Given the description of an element on the screen output the (x, y) to click on. 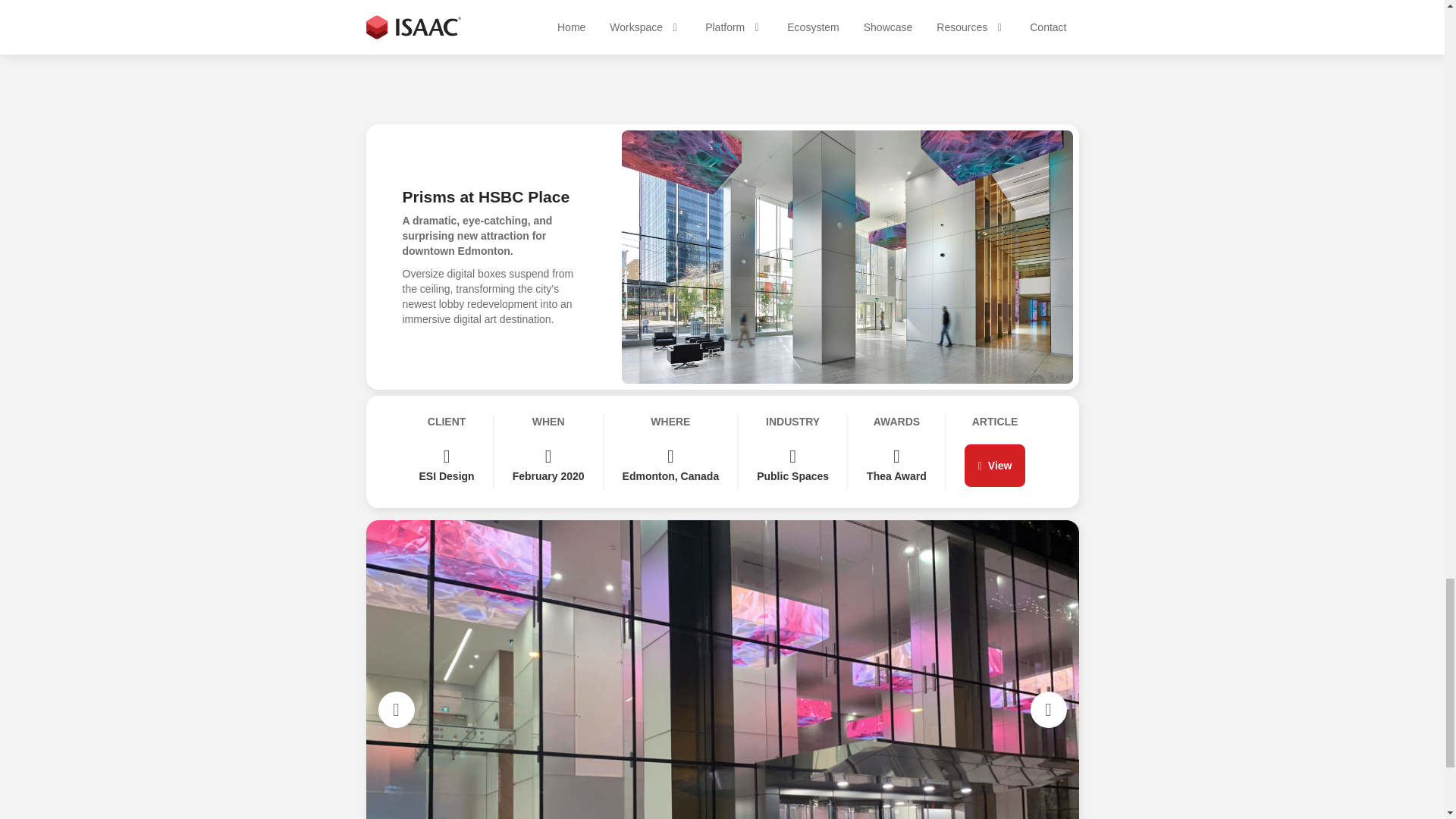
Infrastructure (396, 611)
Content Management (416, 589)
Overview (387, 547)
Panels (381, 568)
Contact Us (722, 382)
